Given the description of an element on the screen output the (x, y) to click on. 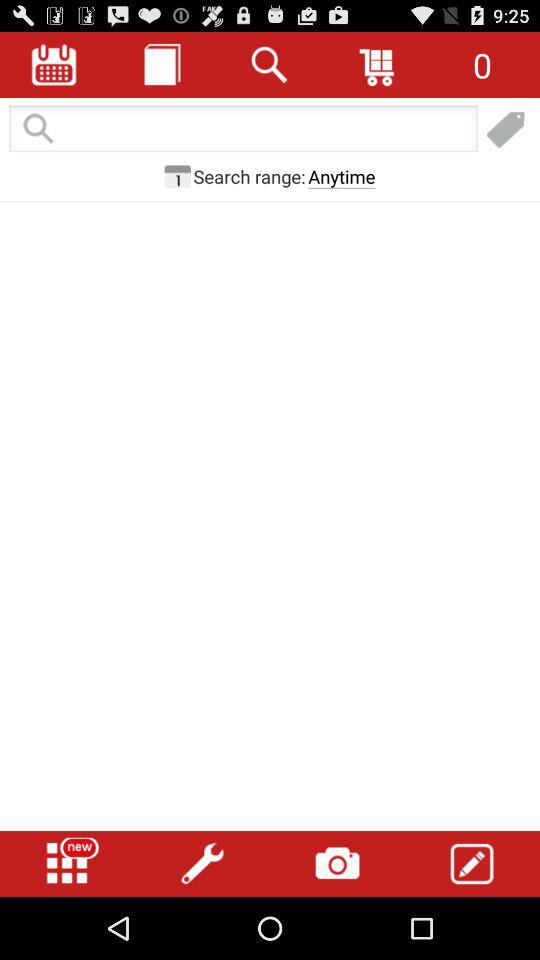
switch to calendar view (53, 64)
